Given the description of an element on the screen output the (x, y) to click on. 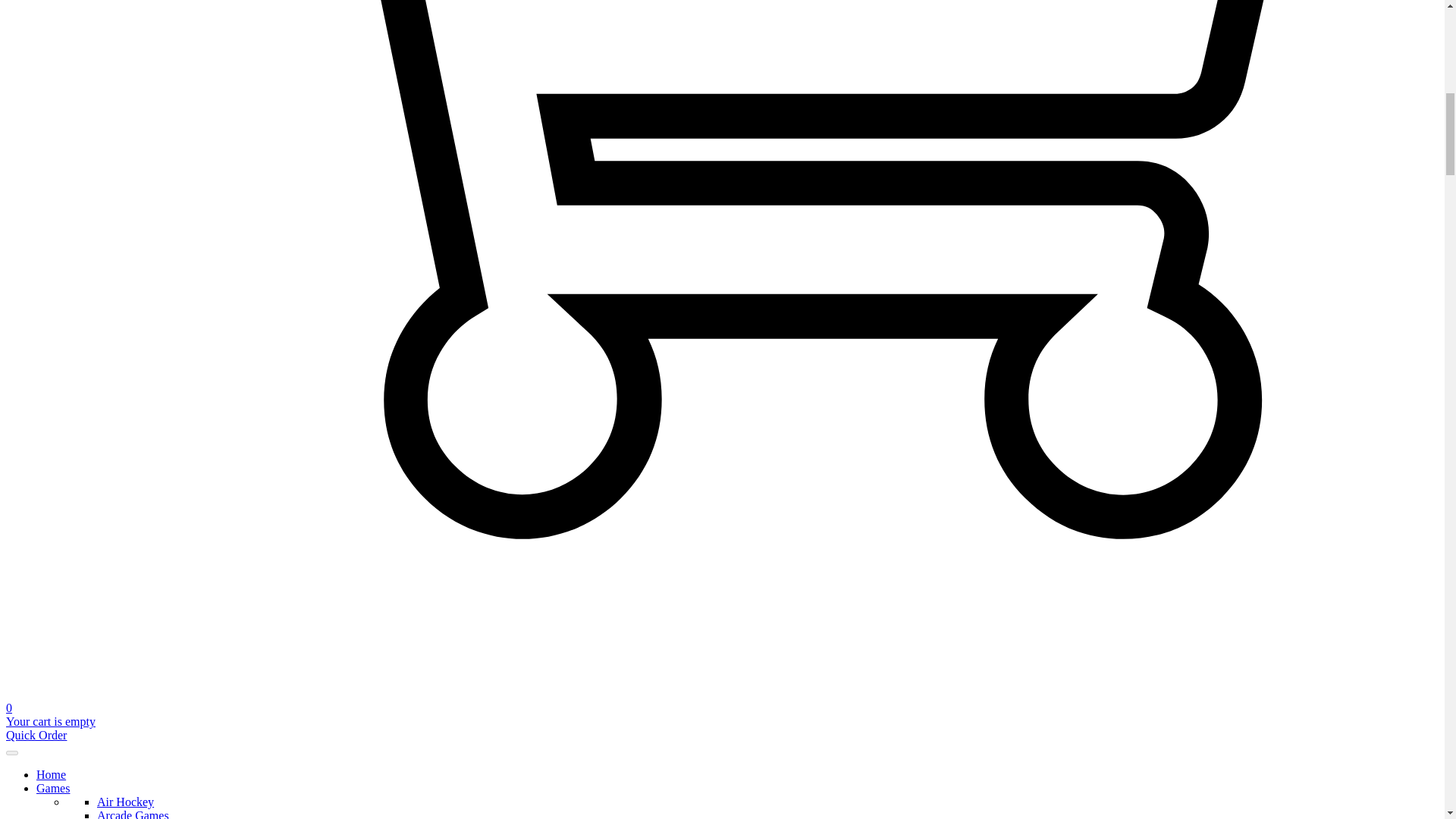
Your cart is empty (50, 721)
Games (52, 788)
Air Hockey (125, 801)
Arcade Games (132, 814)
Quick Order (35, 735)
Home (50, 774)
Quick Order (35, 735)
